Given the description of an element on the screen output the (x, y) to click on. 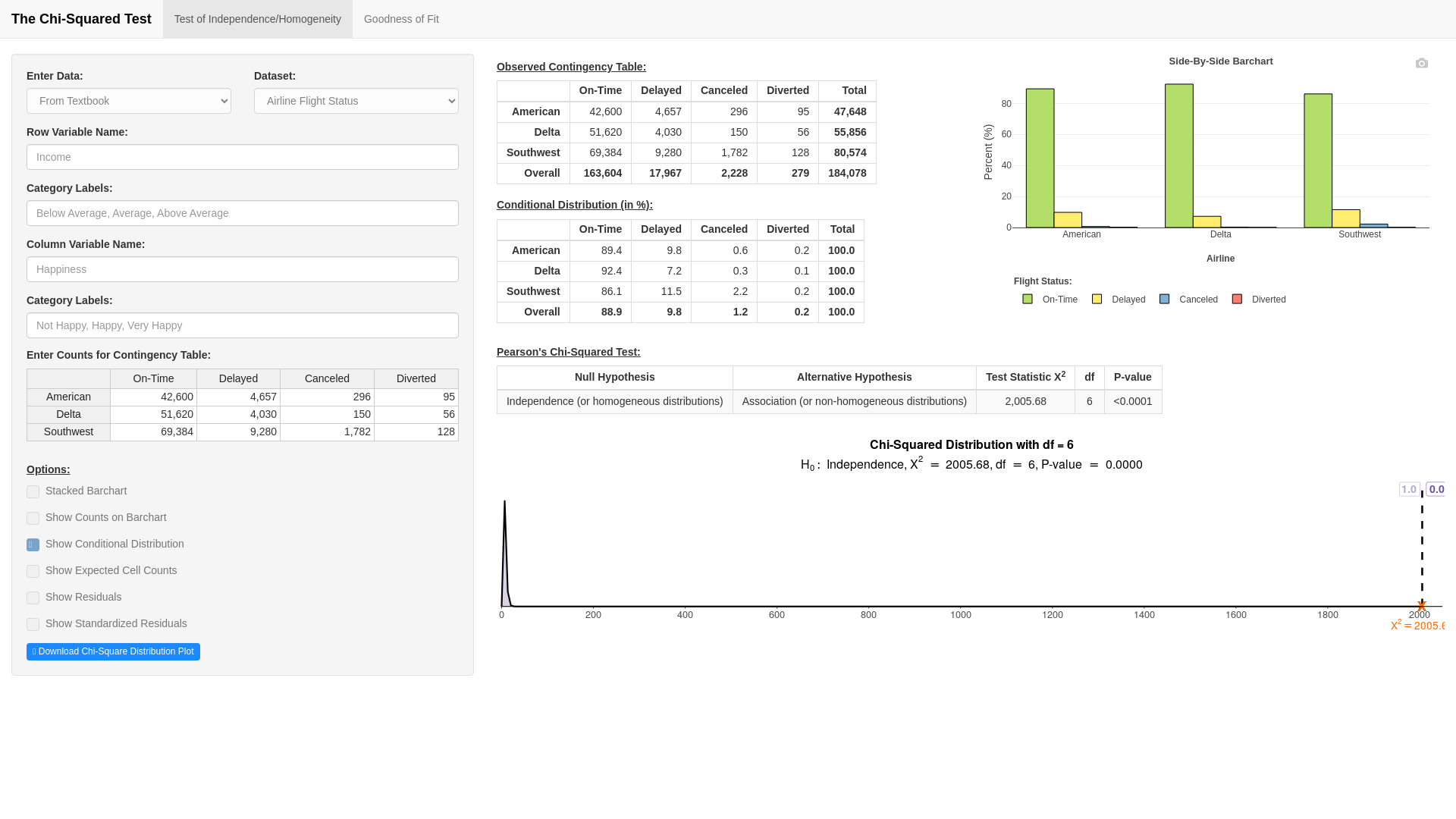
Goodness of Fit (400, 18)
Download Chi-Square Distribution Plot (113, 651)
